Given the description of an element on the screen output the (x, y) to click on. 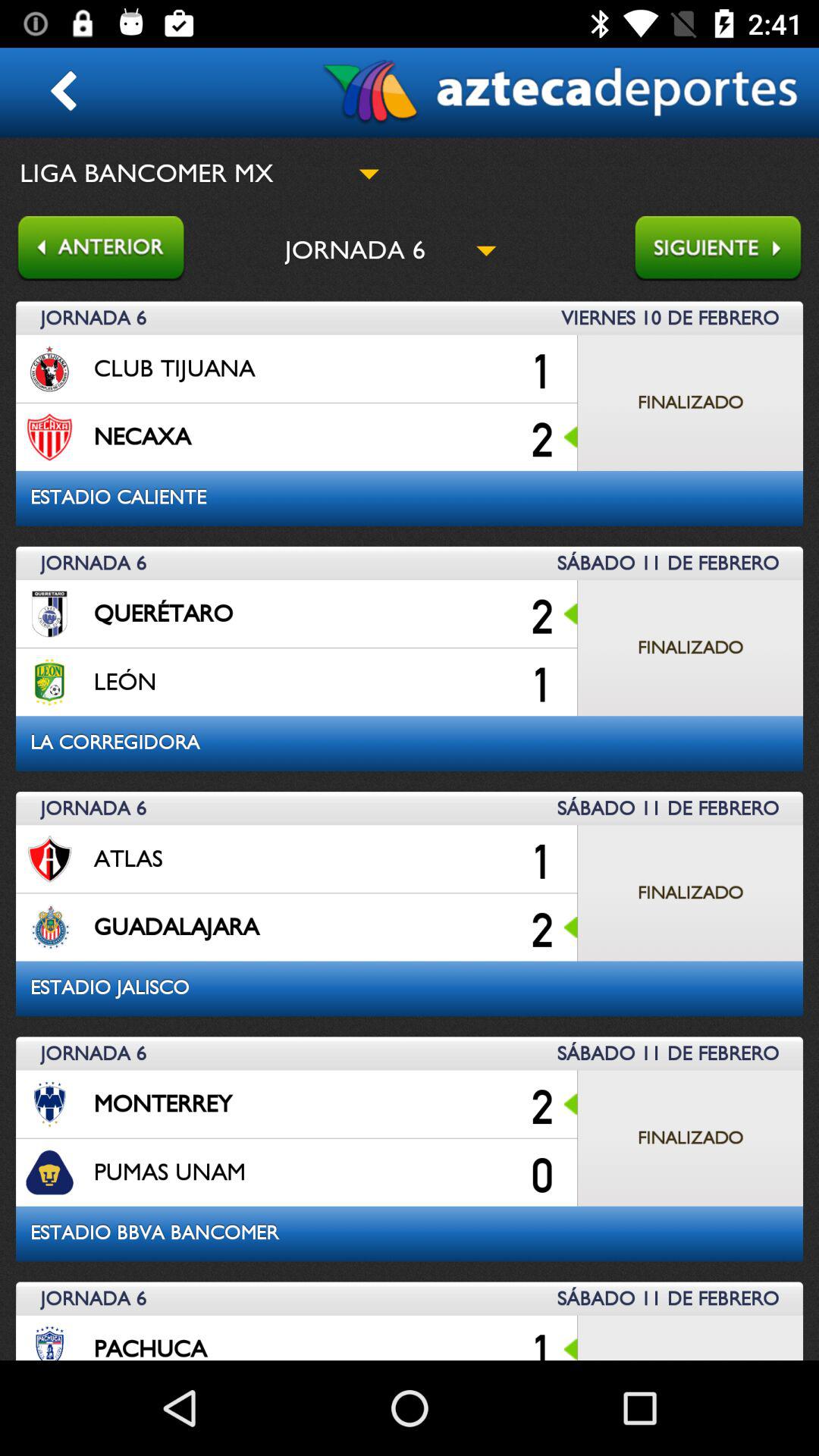
go to previous page (92, 249)
